Given the description of an element on the screen output the (x, y) to click on. 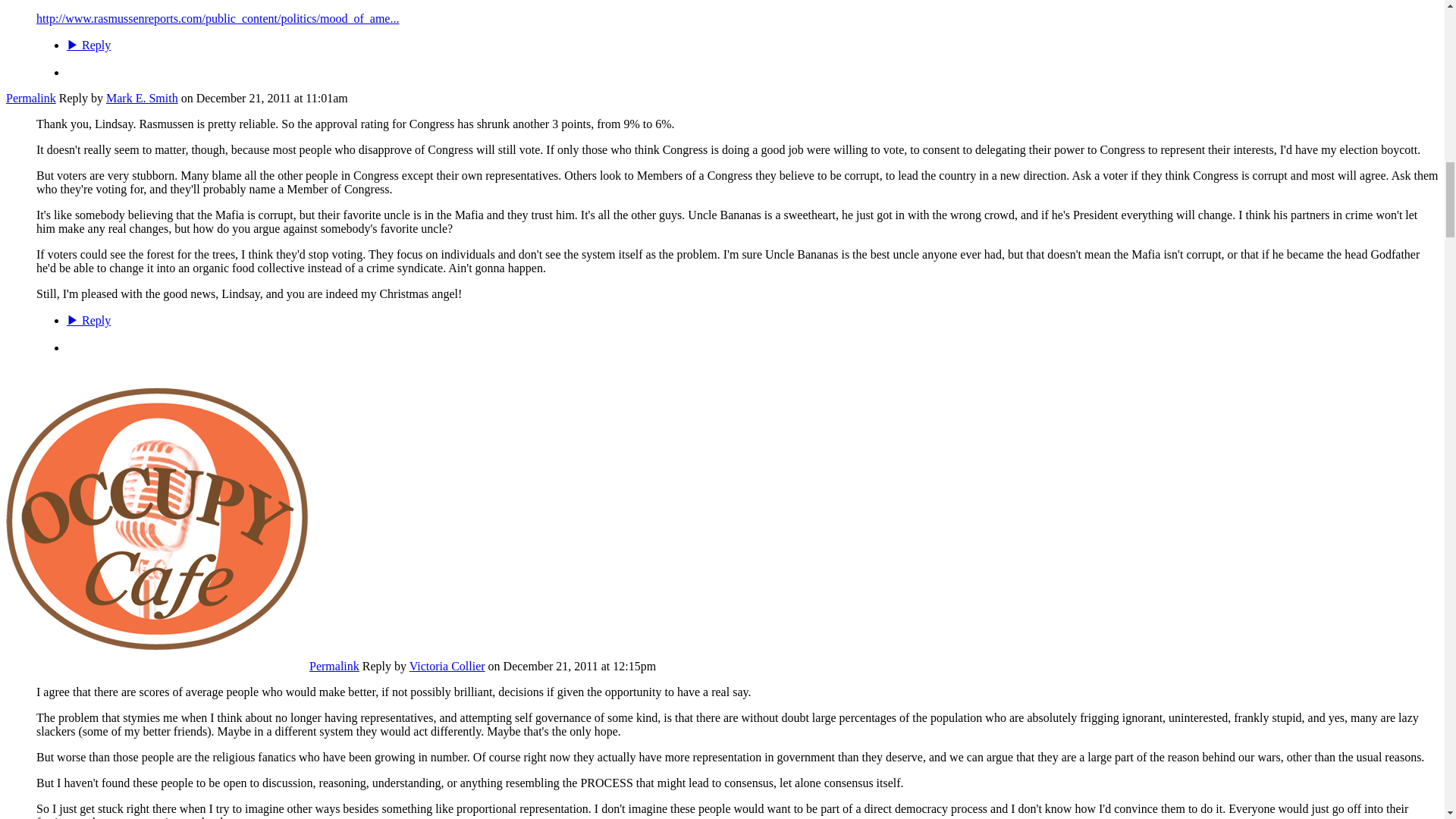
Permalink to this Reply (333, 666)
Victoria Collier (156, 666)
Permalink to this Reply (30, 97)
